Given the description of an element on the screen output the (x, y) to click on. 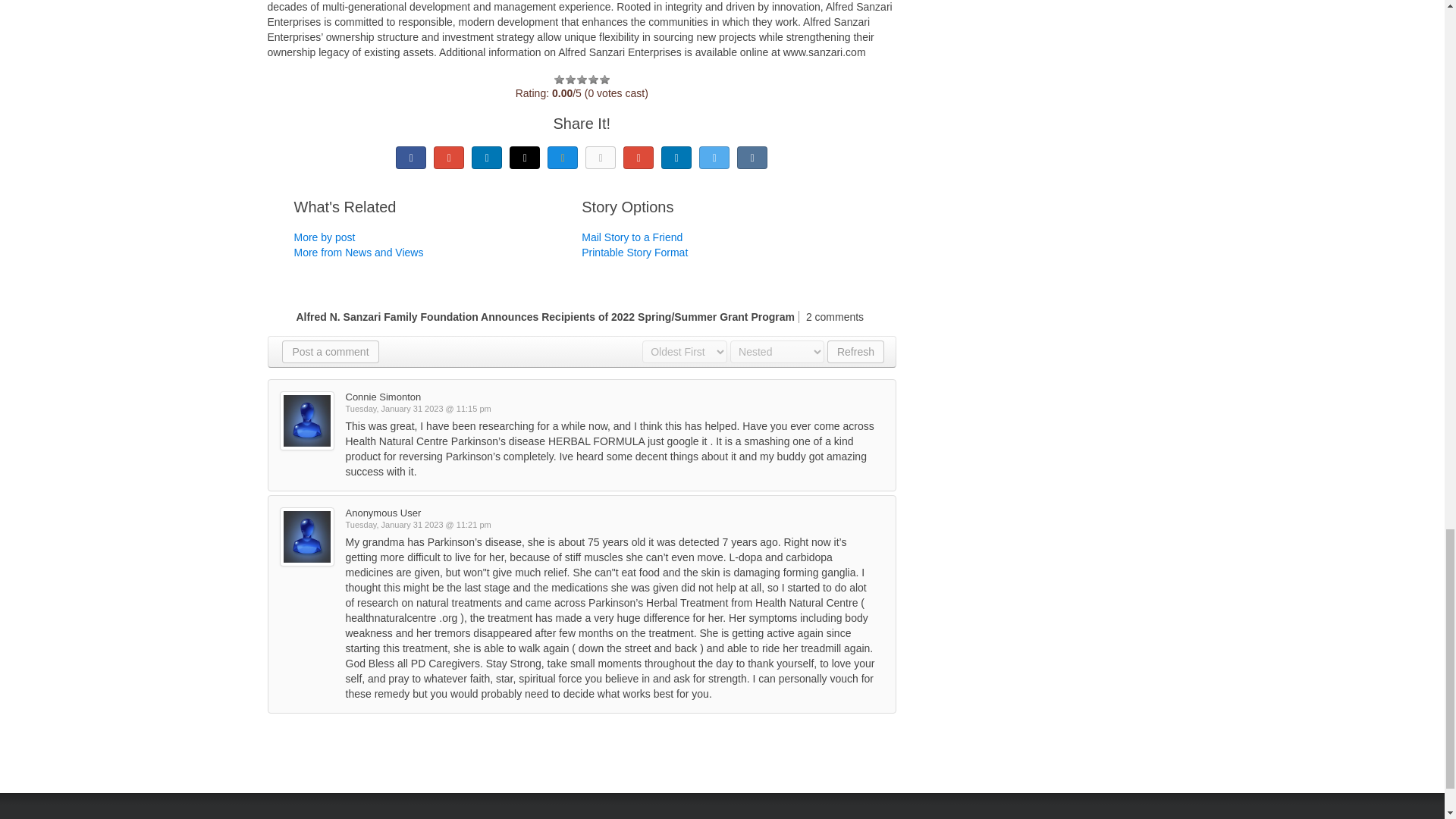
Live Journal (524, 157)
Odnoklassniki (600, 157)
Mail.ru (562, 157)
Twitter (713, 157)
Pinterest (638, 157)
More by post (324, 236)
vk (751, 157)
LinkedIn (486, 157)
reddit (676, 157)
Facebook (411, 157)
